Given the description of an element on the screen output the (x, y) to click on. 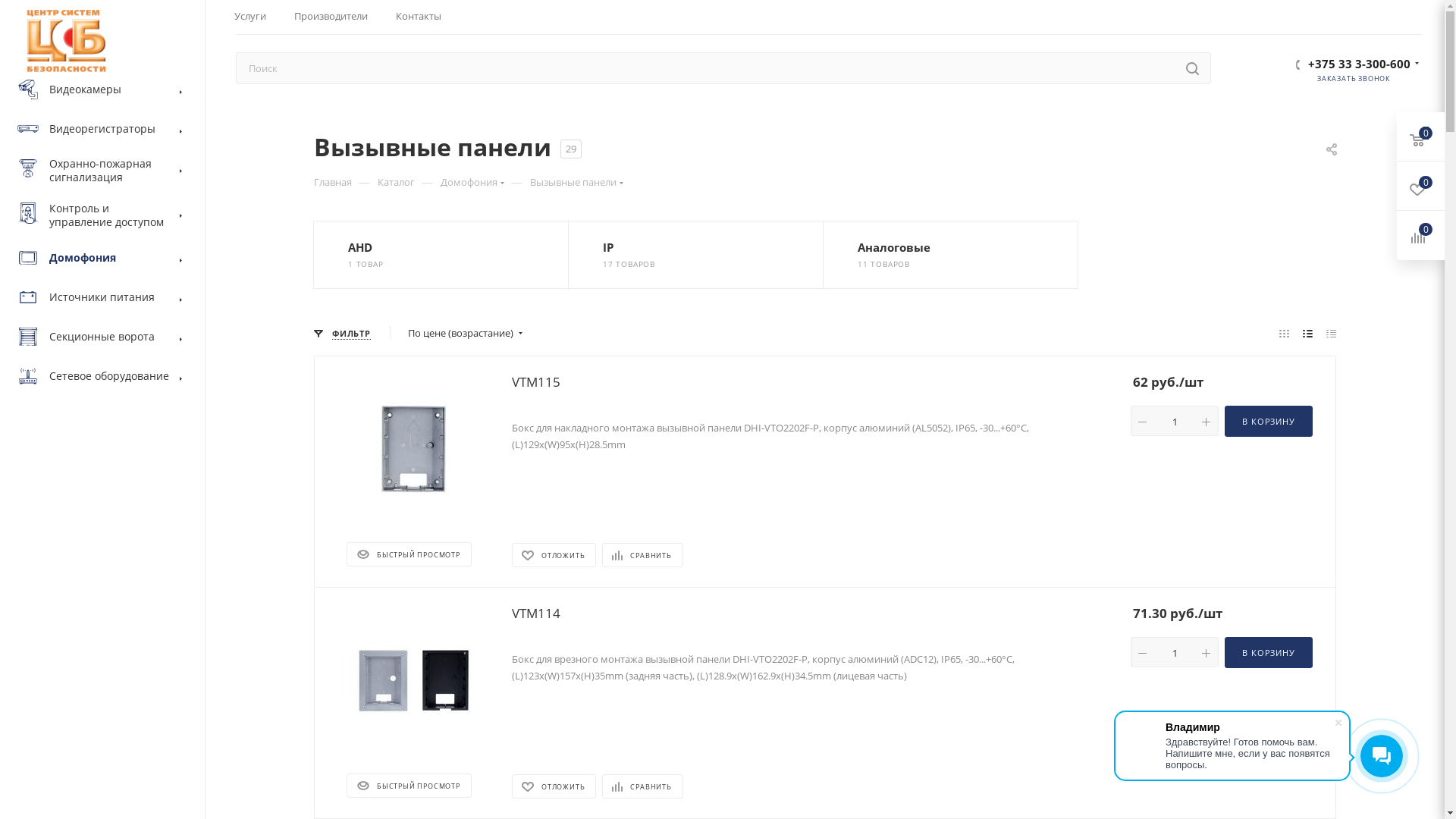
AHD Element type: text (365, 246)
VTM115 Element type: hover (413, 448)
+375 33 3-300-600 Element type: text (1359, 60)
IP Element type: text (628, 246)
VTM114 Element type: text (535, 613)
VTM114 Element type: hover (413, 680)
VTM115 Element type: text (535, 381)
